Given the description of an element on the screen output the (x, y) to click on. 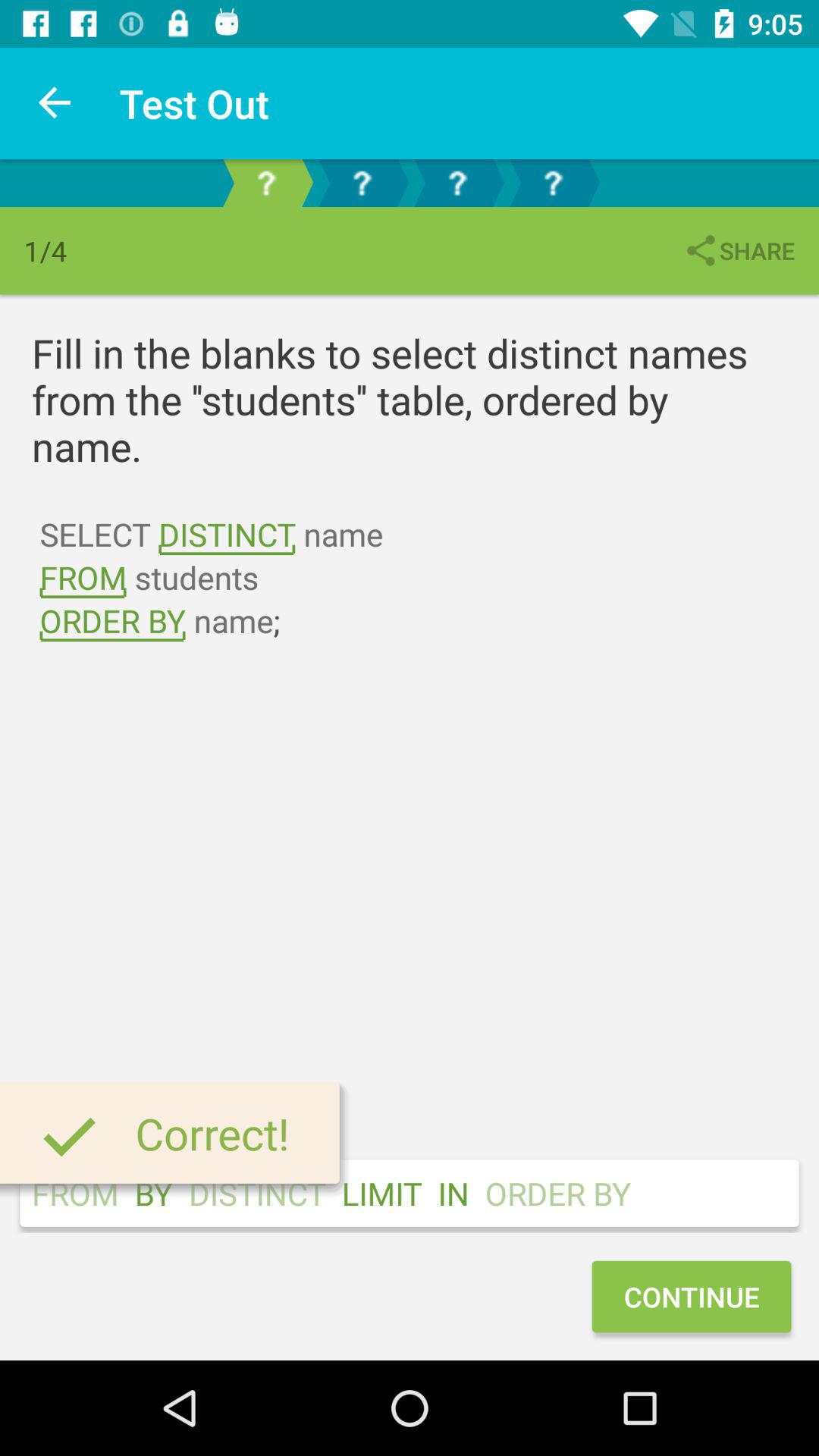
jump until the continue item (691, 1296)
